Given the description of an element on the screen output the (x, y) to click on. 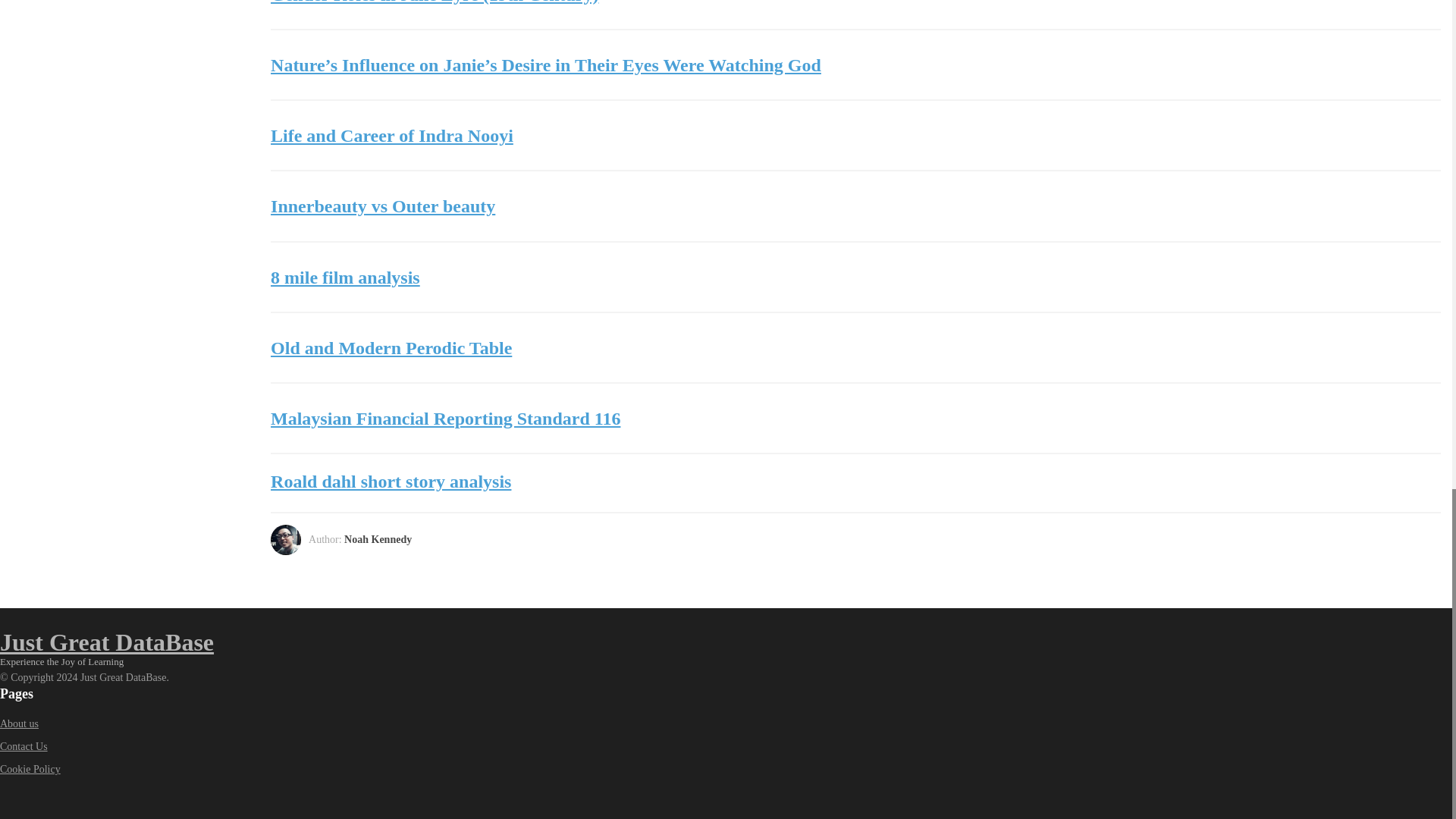
Roald dahl short story analysis (855, 481)
Malaysian Financial Reporting Standard 116 (855, 418)
Life and Career of Indra Nooyi (855, 136)
Innerbeauty vs Outer beauty (855, 206)
8 mile film analysis (855, 277)
Old and Modern Perodic Table (855, 348)
